Given the description of an element on the screen output the (x, y) to click on. 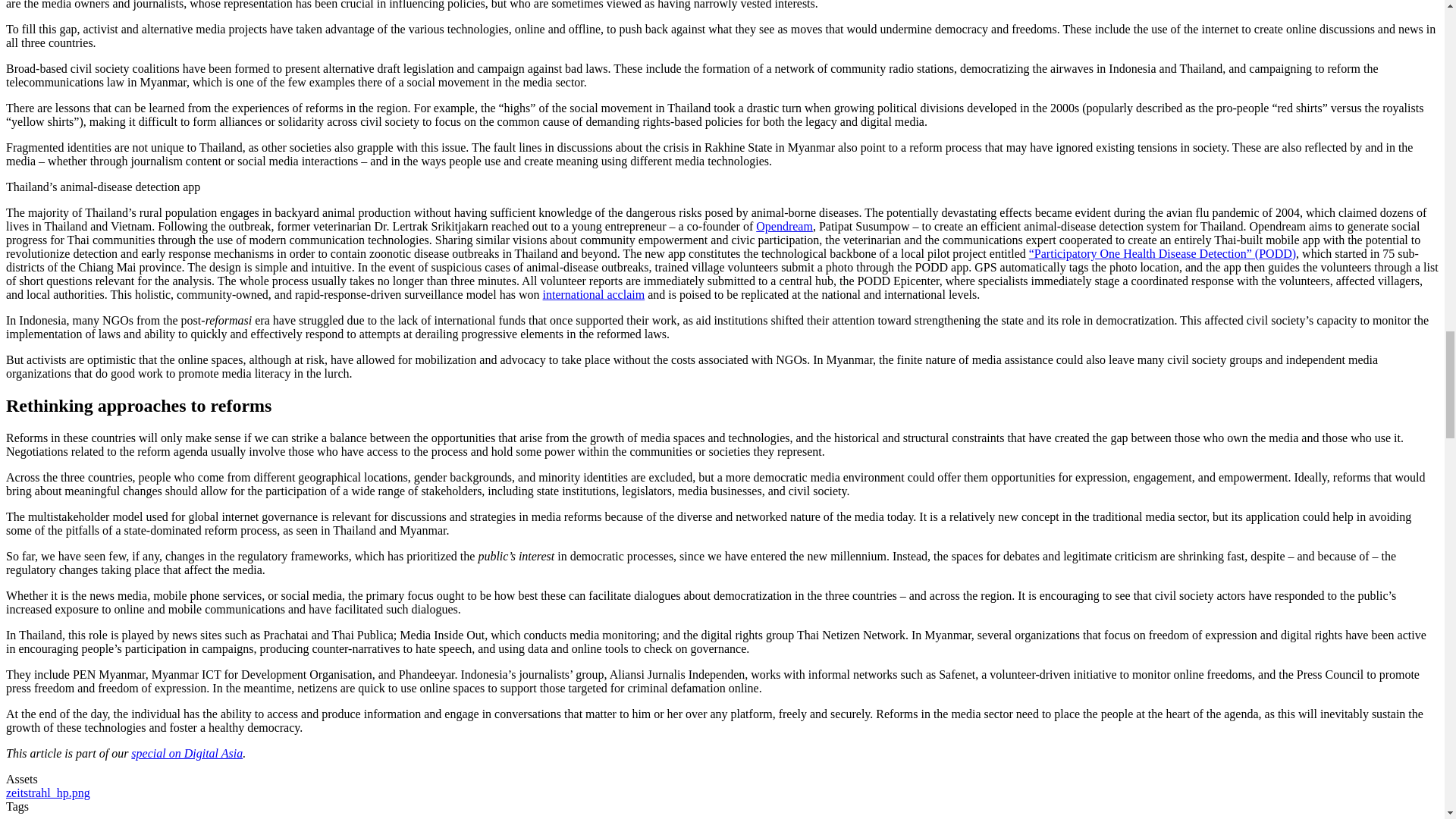
international acclaim (594, 294)
special on Digital Asia (187, 753)
Opendream (783, 226)
